Given the description of an element on the screen output the (x, y) to click on. 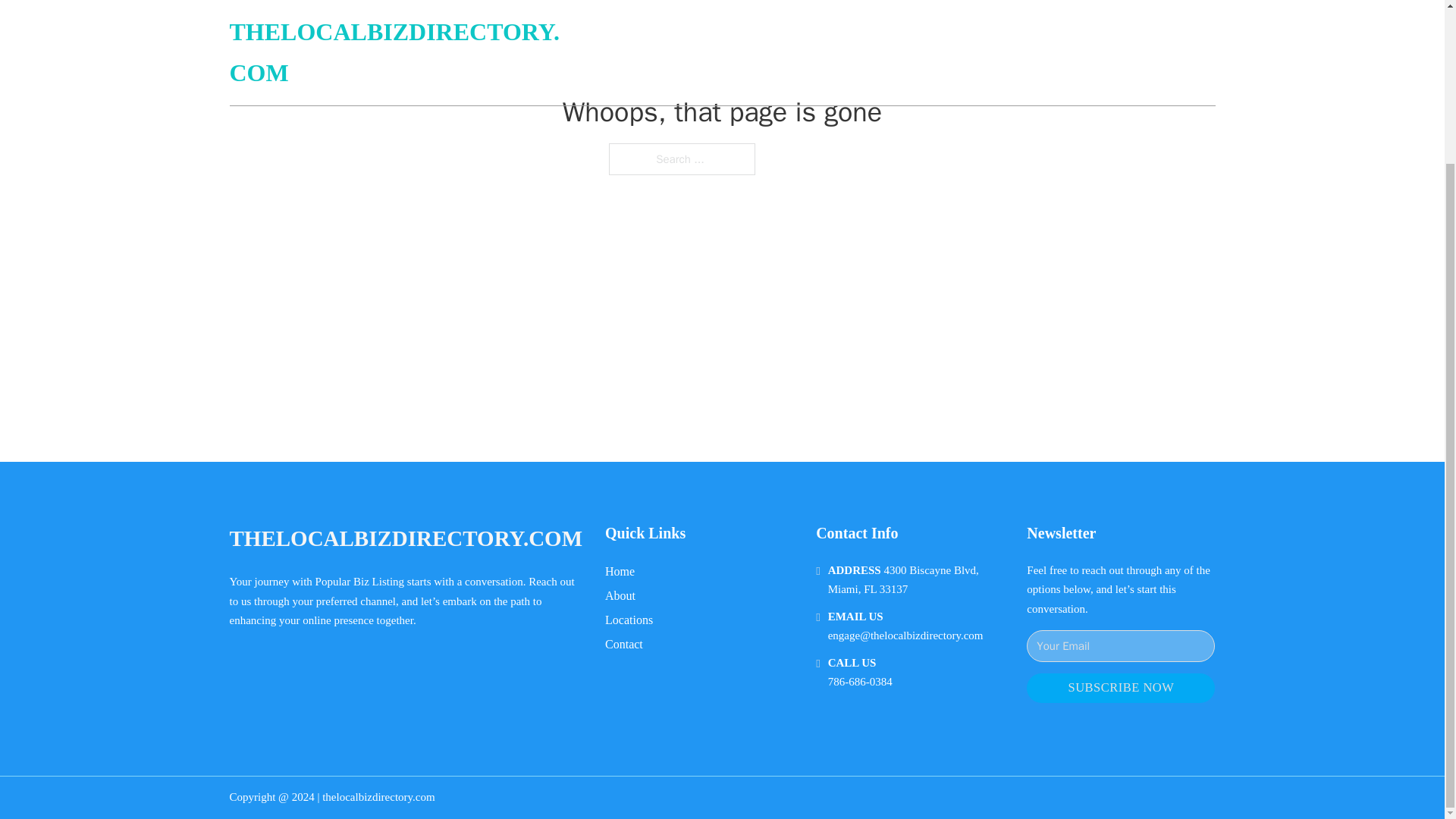
About (619, 595)
786-686-0384 (860, 681)
Contact (624, 643)
Home (619, 571)
THELOCALBIZDIRECTORY.COM (405, 538)
Locations (628, 619)
SUBSCRIBE NOW (1120, 687)
